Given the description of an element on the screen output the (x, y) to click on. 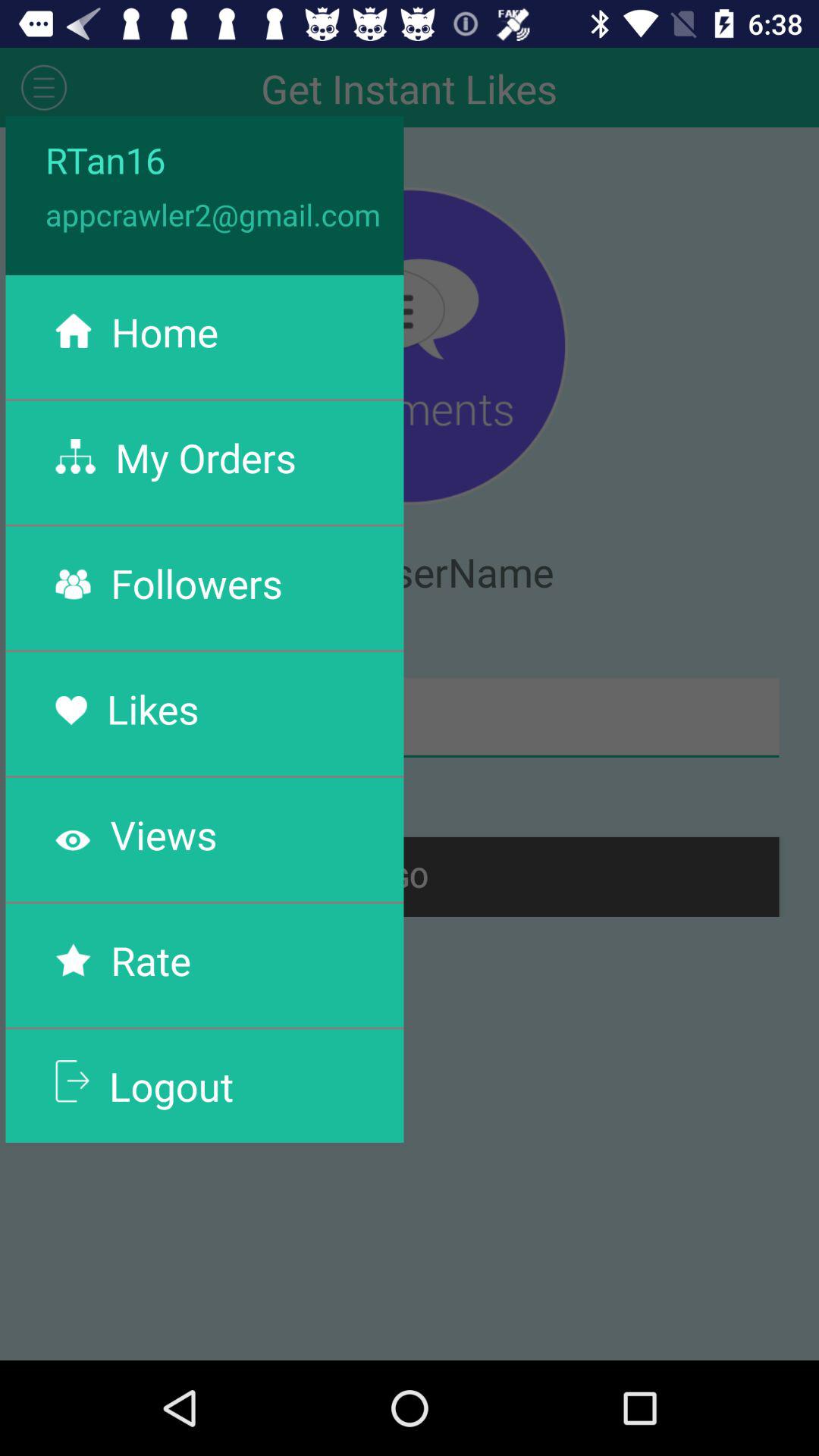
swipe to views (163, 834)
